Given the description of an element on the screen output the (x, y) to click on. 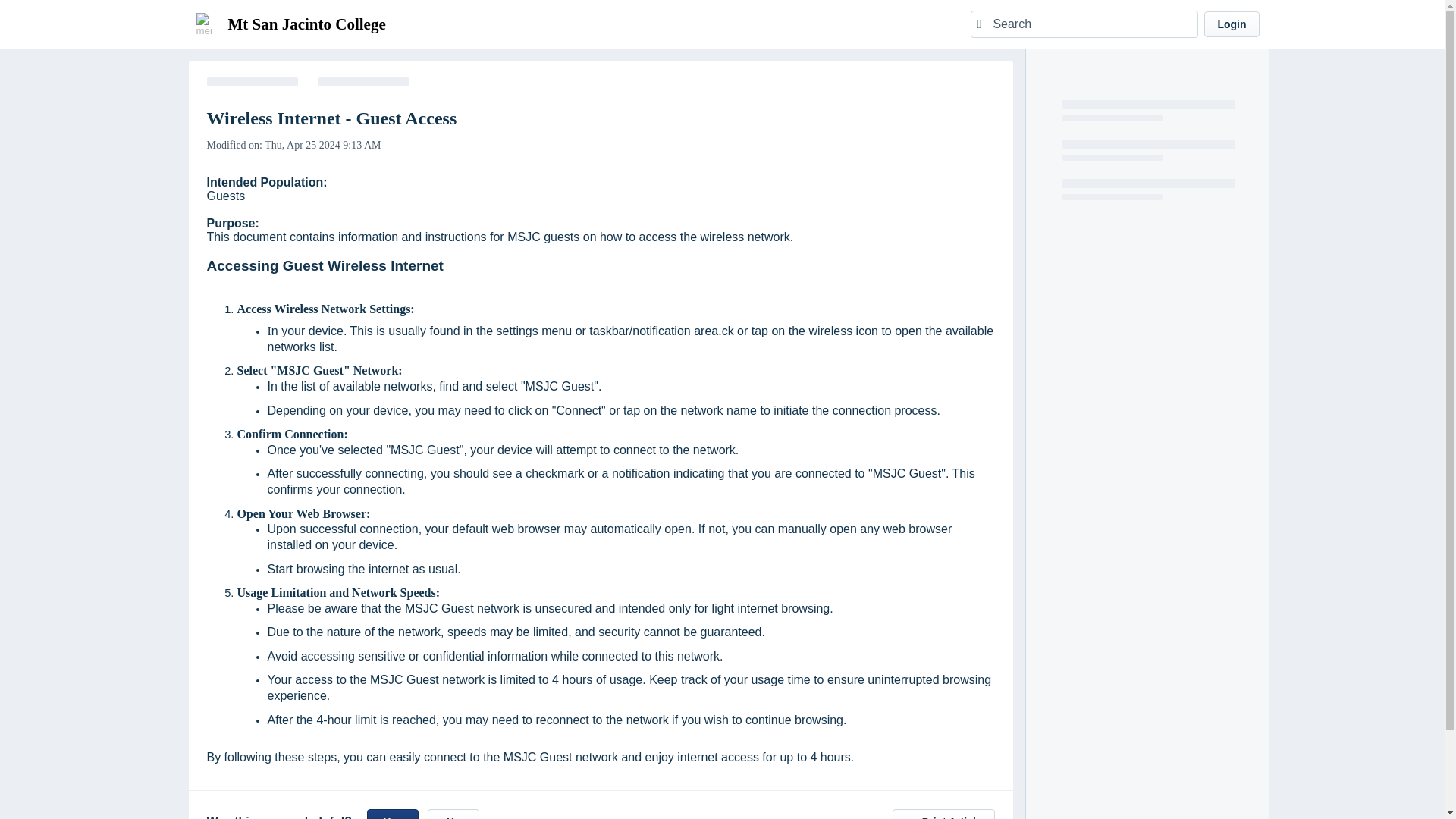
Login (1231, 23)
Yes (392, 814)
Print Article (943, 814)
No (453, 814)
